Given the description of an element on the screen output the (x, y) to click on. 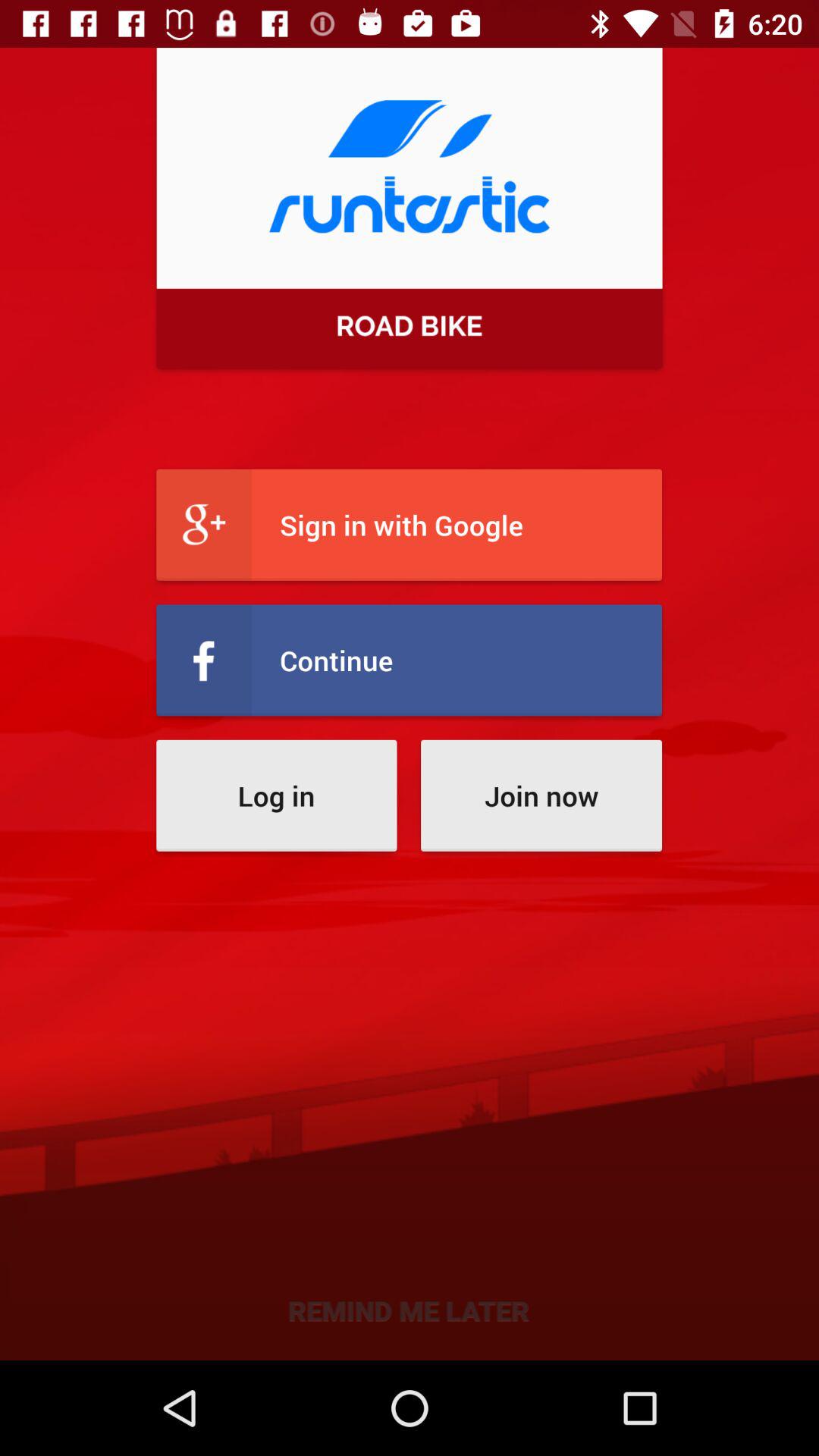
turn off the log in (276, 795)
